Given the description of an element on the screen output the (x, y) to click on. 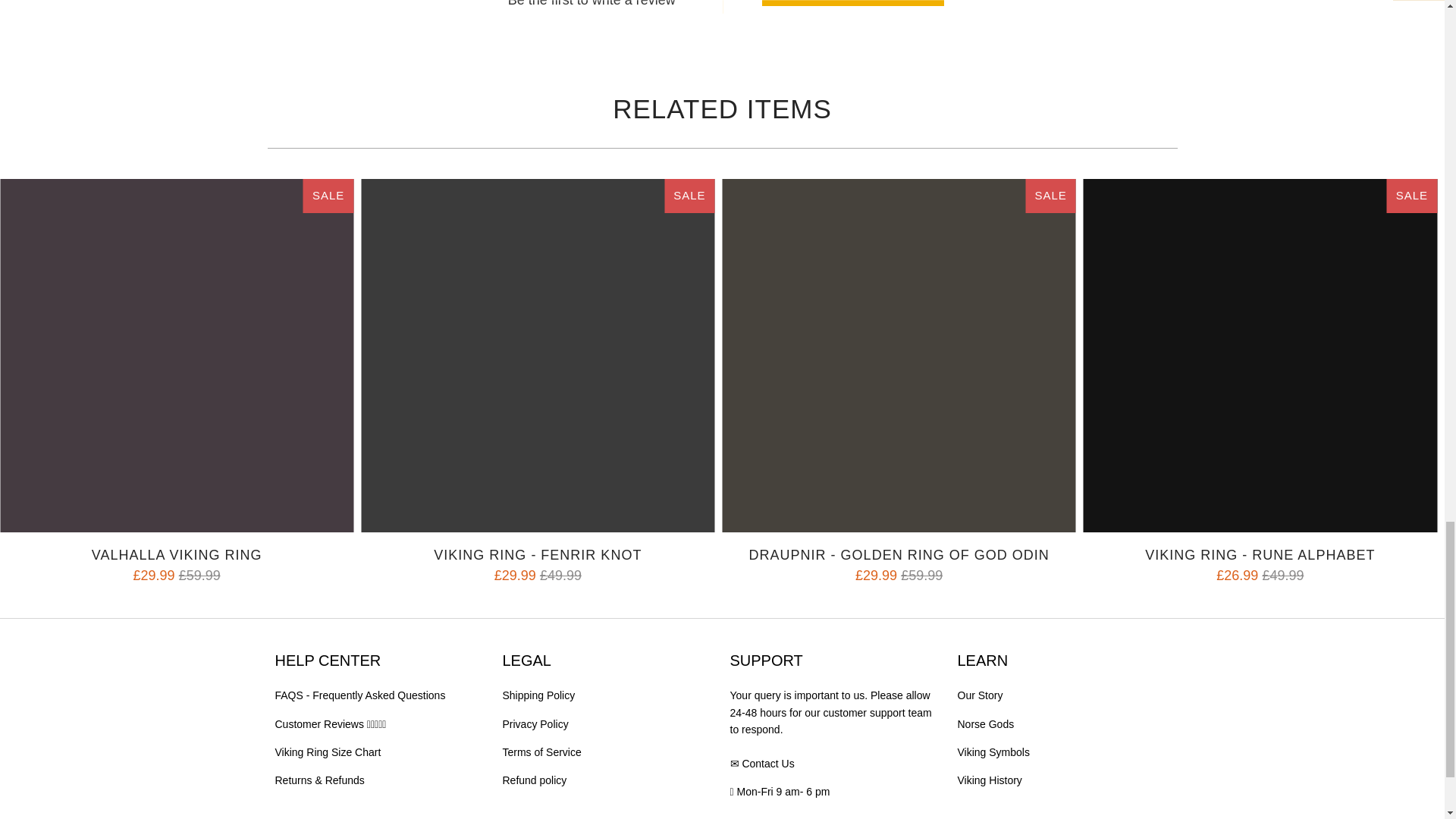
Contact Us (767, 763)
